Given the description of an element on the screen output the (x, y) to click on. 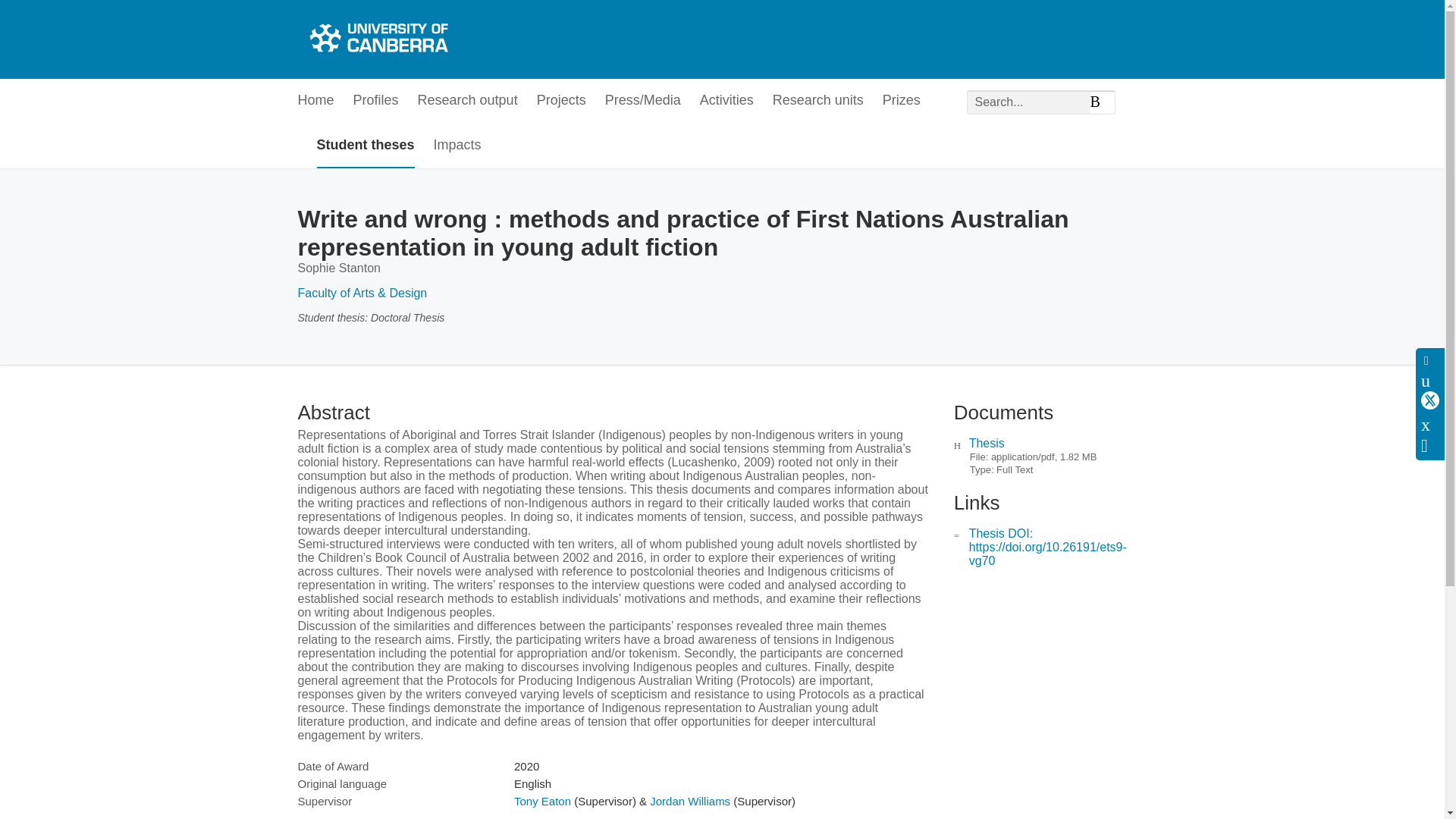
Jordan Williams (689, 800)
Student theses (365, 145)
Impacts (457, 145)
Research output (467, 100)
Profiles (375, 100)
Tony Eaton (541, 800)
University of Canberra Research Portal Home (377, 39)
Activities (727, 100)
Research units (818, 100)
Projects (561, 100)
Thesis (986, 442)
